Given the description of an element on the screen output the (x, y) to click on. 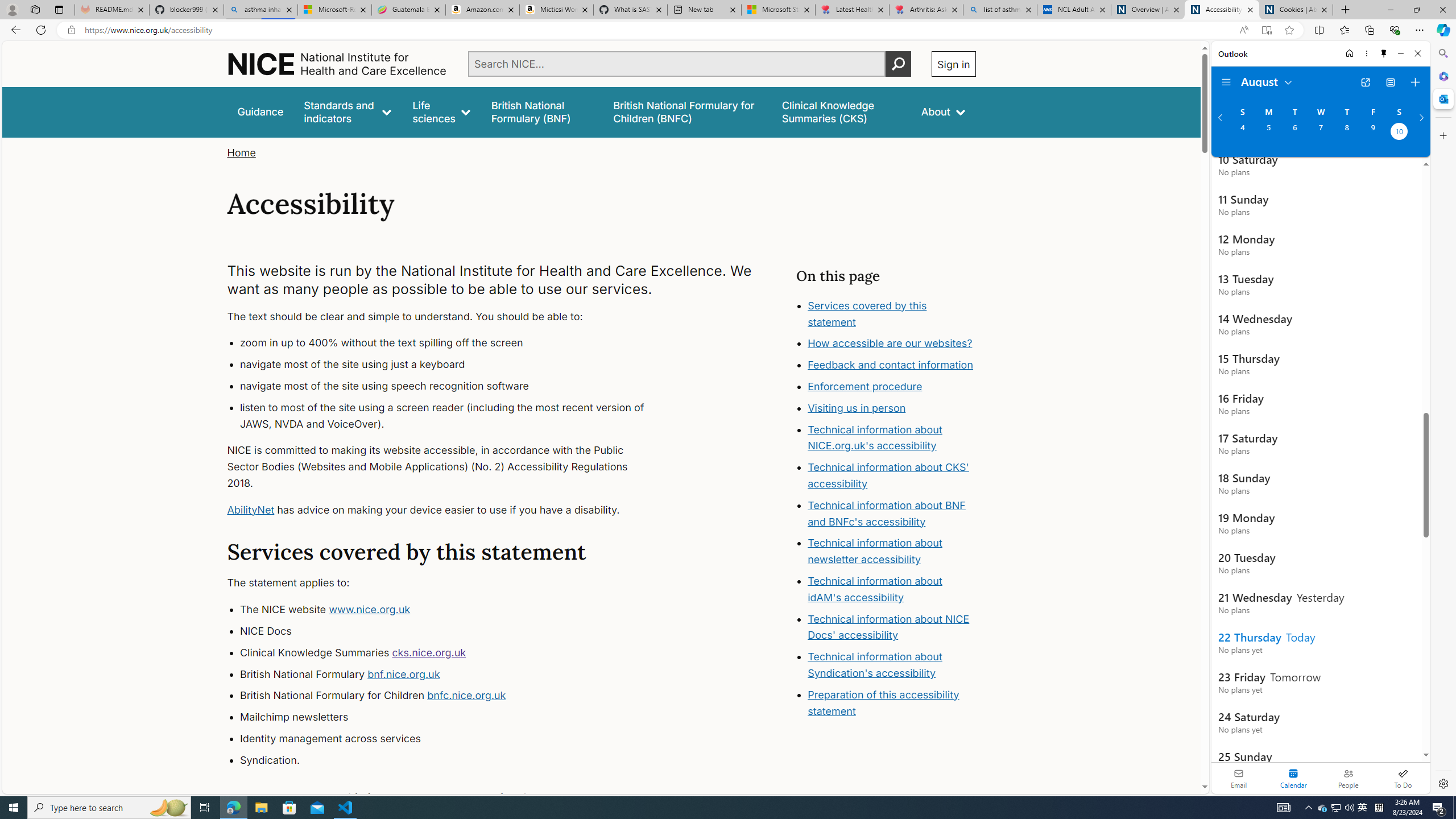
British National Formulary for Children bnfc.nice.org.uk (452, 695)
Technical information about Syndication's accessibility (875, 664)
Email (1238, 777)
Create event (1414, 82)
Clinical Knowledge Summaries cks.nice.org.uk (452, 652)
false (841, 111)
